Given the description of an element on the screen output the (x, y) to click on. 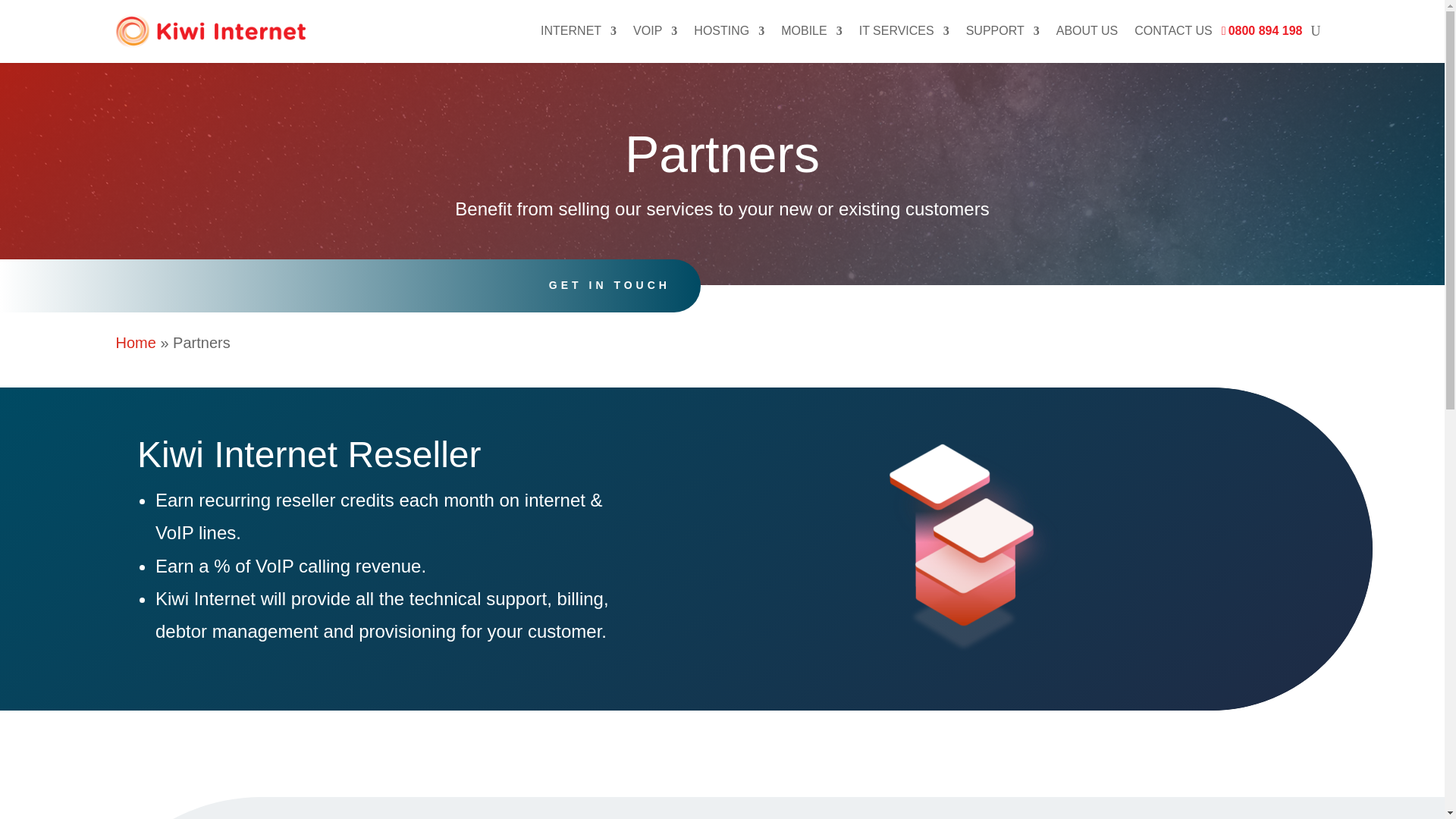
SUPPORT (1002, 31)
0800 894 198 (1265, 31)
INTERNET (577, 31)
MOBILE (810, 31)
CONTACT US (1173, 31)
IT SERVICES (904, 31)
ABOUT US (1087, 31)
HOSTING (729, 31)
